Given the description of an element on the screen output the (x, y) to click on. 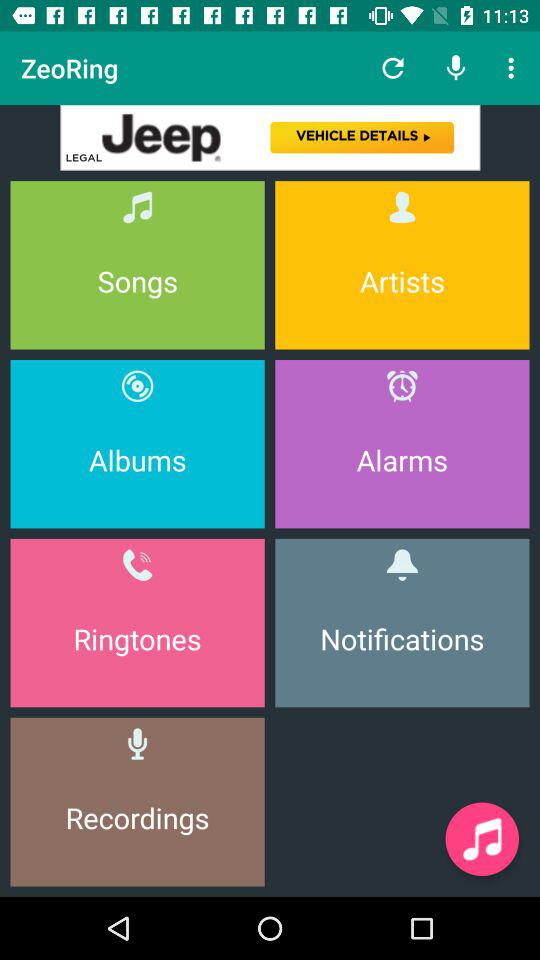
open media player (482, 839)
